Given the description of an element on the screen output the (x, y) to click on. 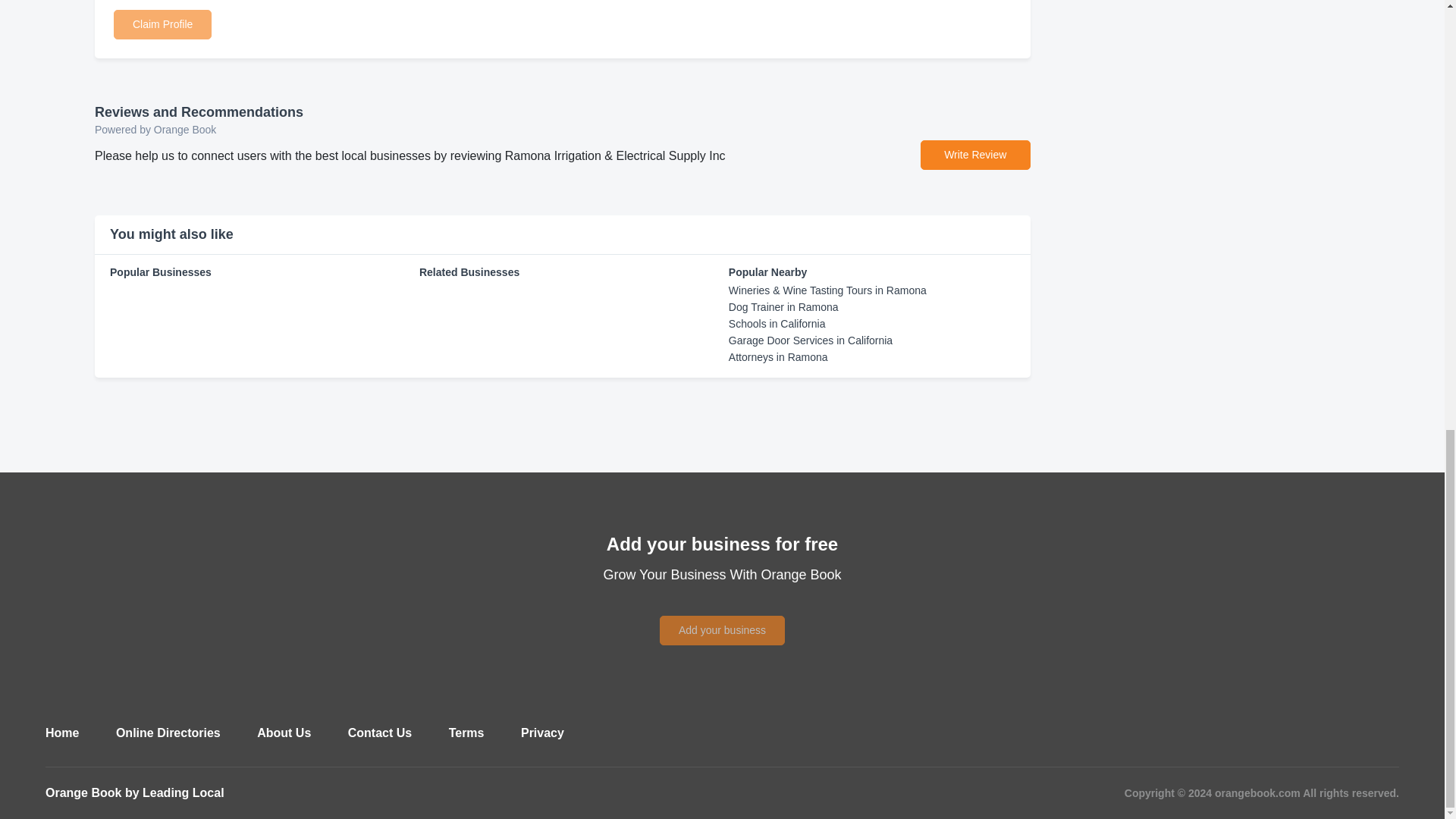
Attorneys in Ramona (778, 357)
Dog Trainer in Ramona (783, 306)
Garage Door Services in California (810, 340)
Claim Profile (162, 23)
Schools in California (777, 323)
